Given the description of an element on the screen output the (x, y) to click on. 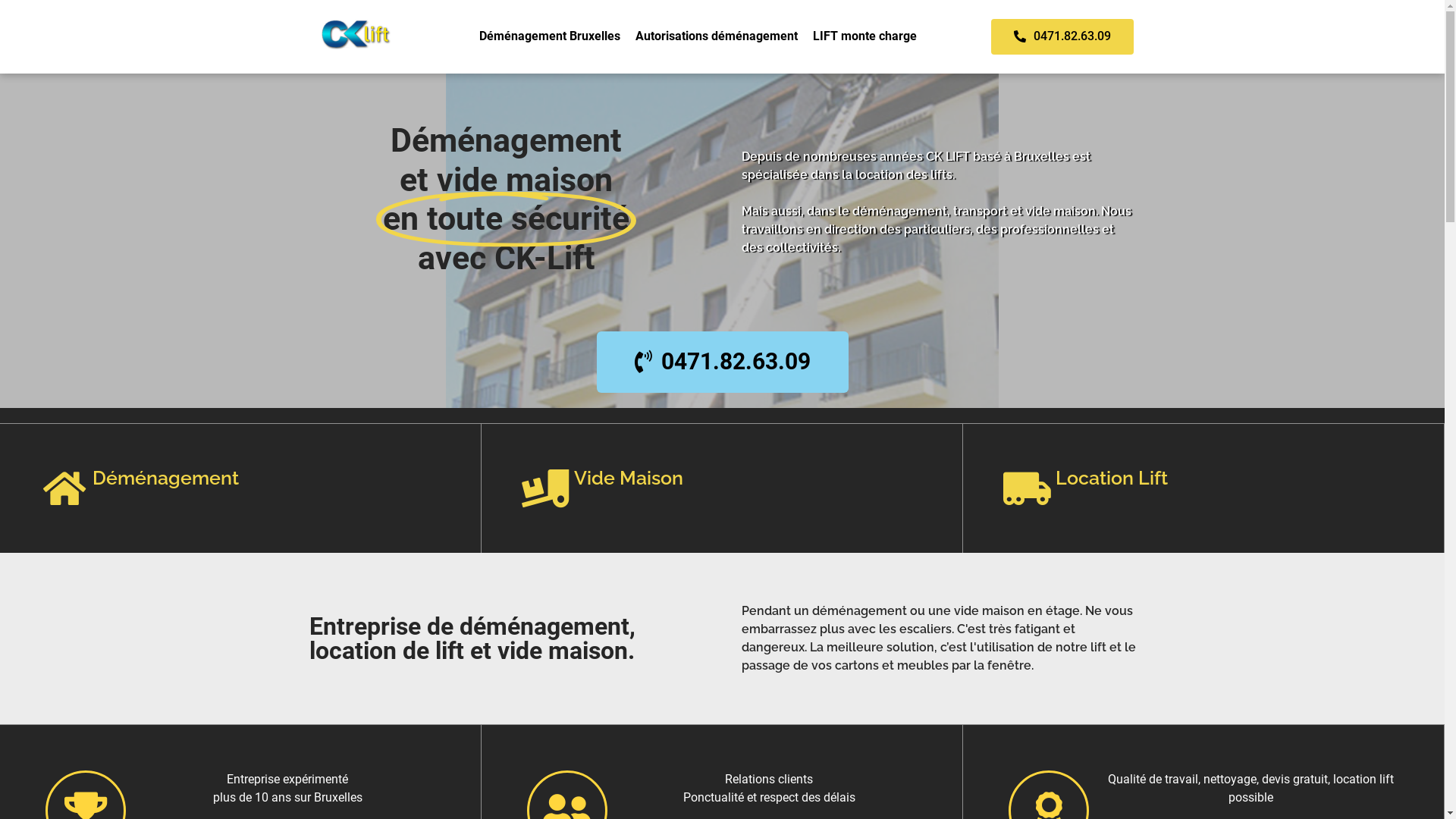
0471.82.63.09 Element type: text (1062, 36)
0471.82.63.09 Element type: text (721, 361)
LIFT monte charge Element type: text (864, 35)
Location Lift Element type: text (1111, 477)
